Given the description of an element on the screen output the (x, y) to click on. 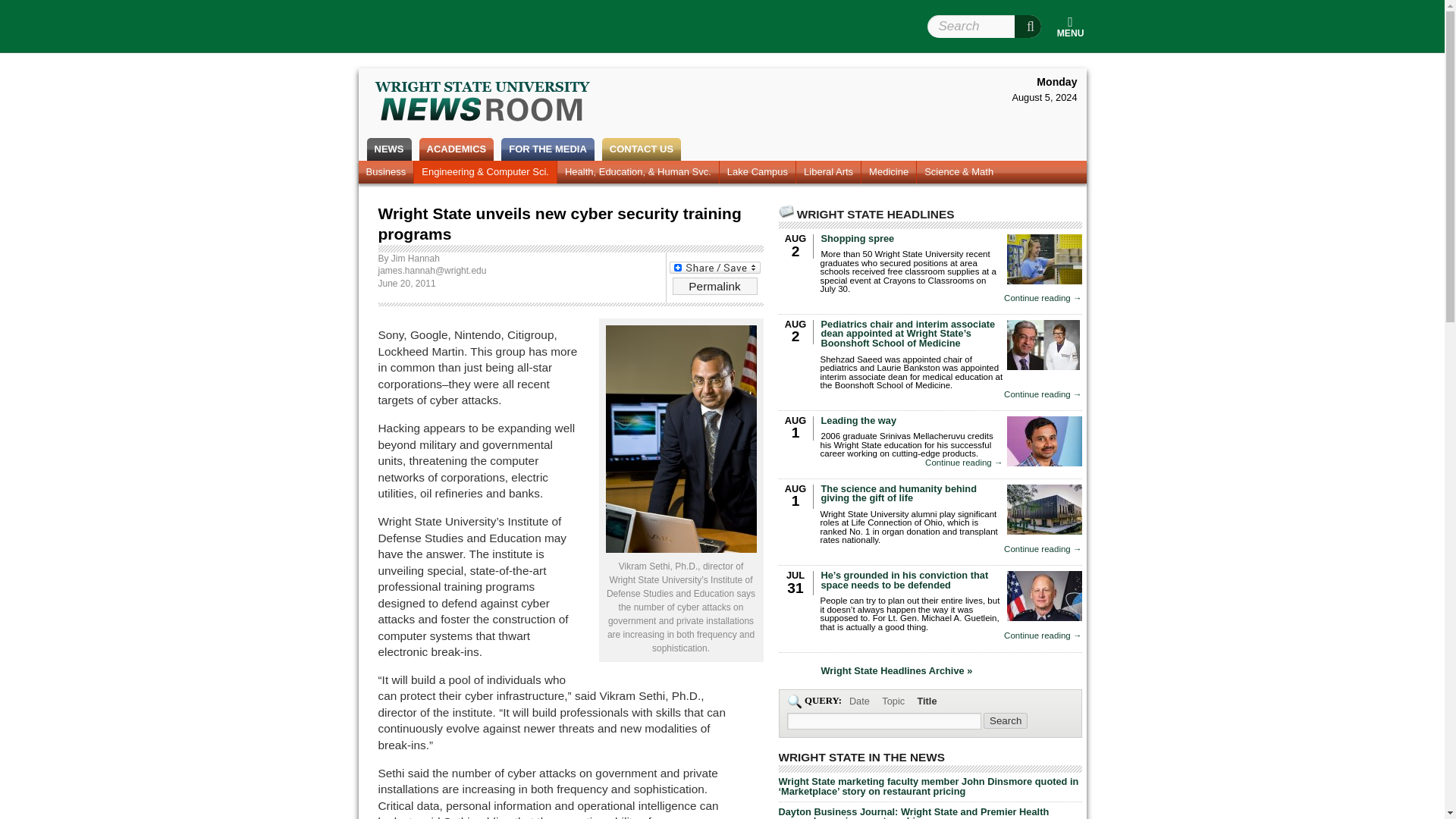
Around Campus (517, 171)
Permanent link to Shopping spree (857, 238)
MENU (1070, 26)
Search (1005, 720)
NEWS (388, 149)
Search (1027, 26)
News Home (392, 171)
ACADEMICS (455, 149)
Liberal Arts (828, 171)
Permalink (714, 286)
Wright State University (509, 23)
Photos (721, 171)
CONTACT US (641, 149)
Search (1027, 26)
